Given the description of an element on the screen output the (x, y) to click on. 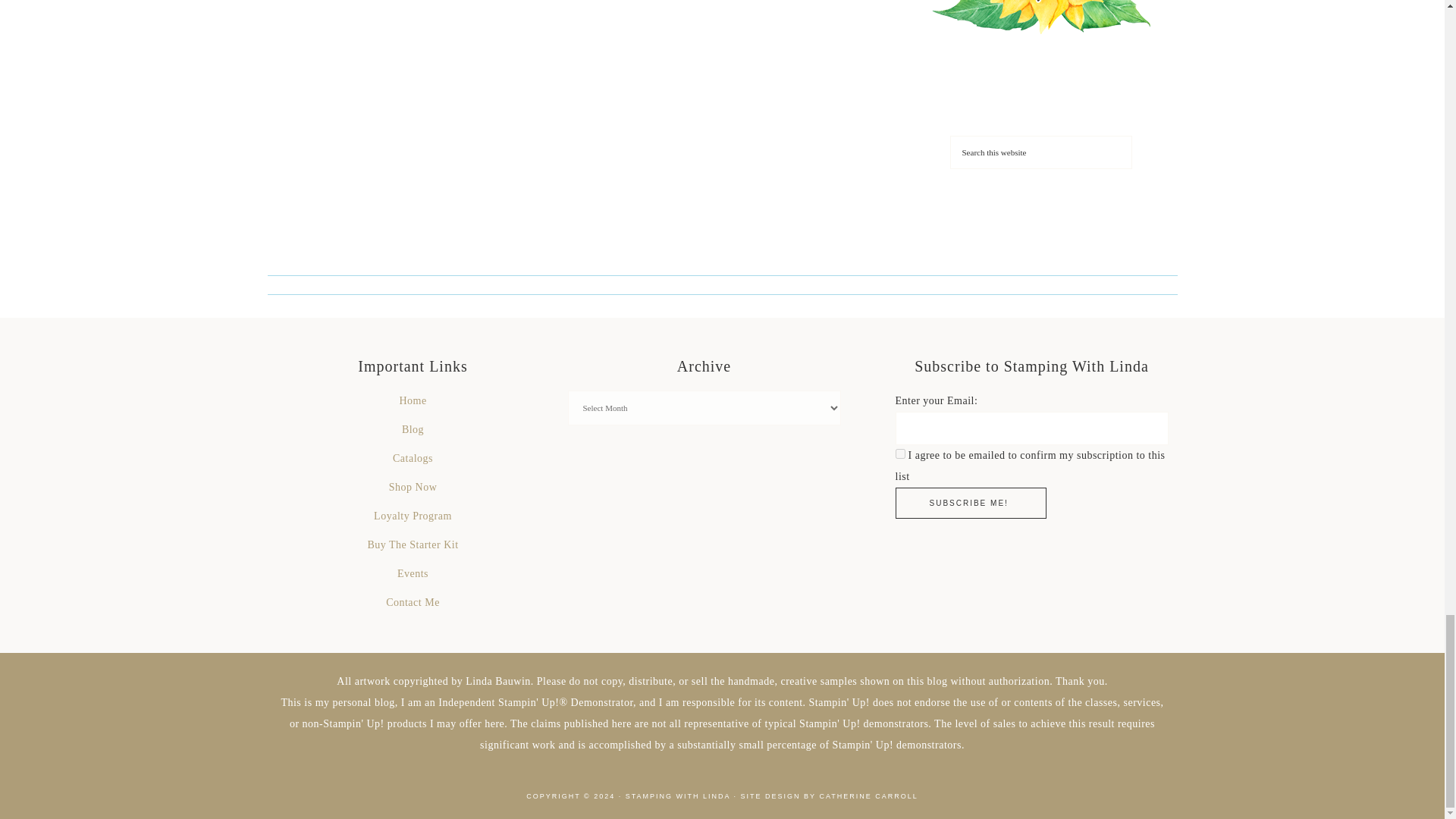
Subscribe me!  (970, 502)
on (899, 453)
